Given the description of an element on the screen output the (x, y) to click on. 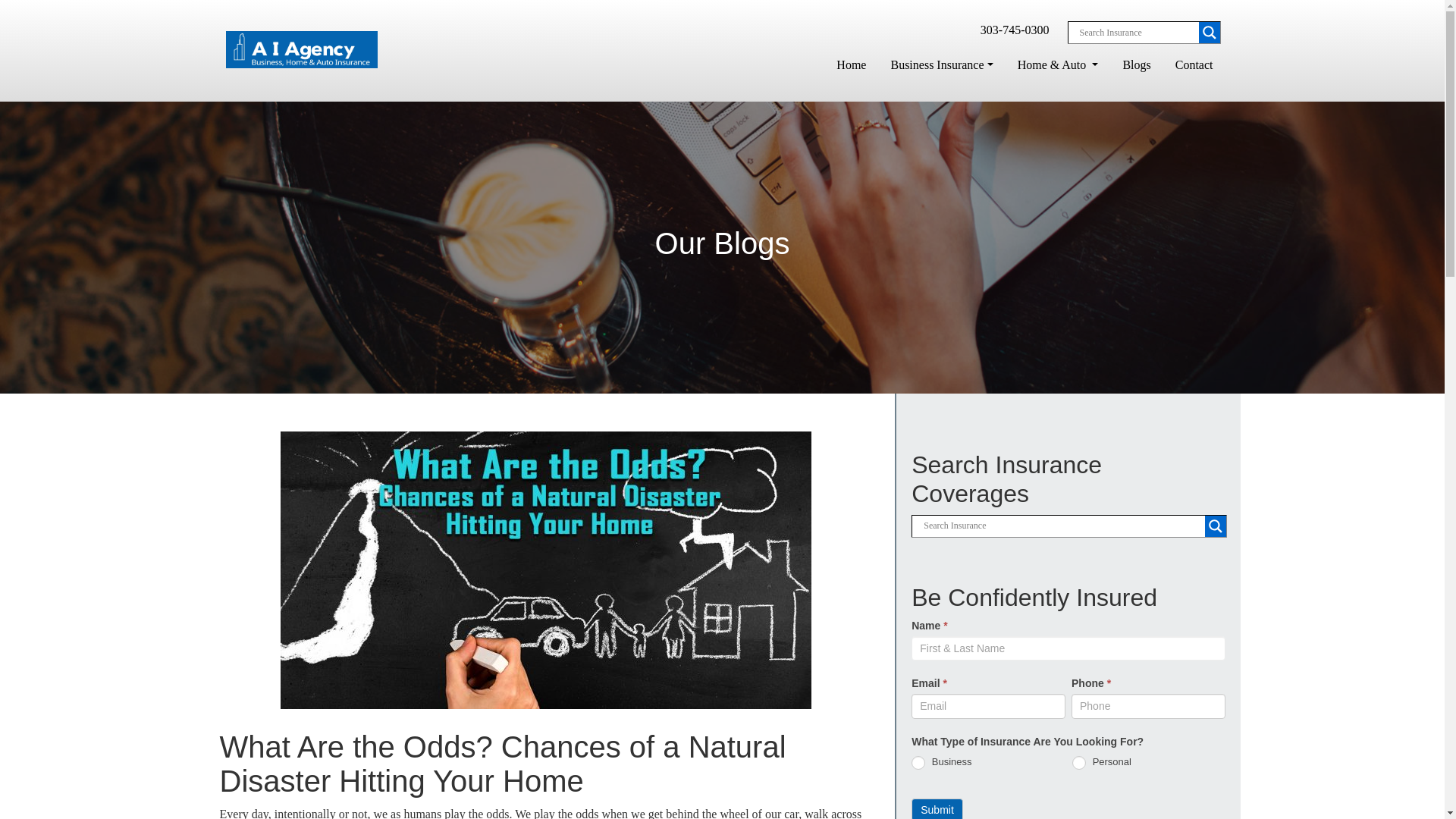
Personal (1078, 762)
Business (917, 762)
Contact (1194, 64)
Business Insurance (940, 64)
Blogs (1136, 64)
